Given the description of an element on the screen output the (x, y) to click on. 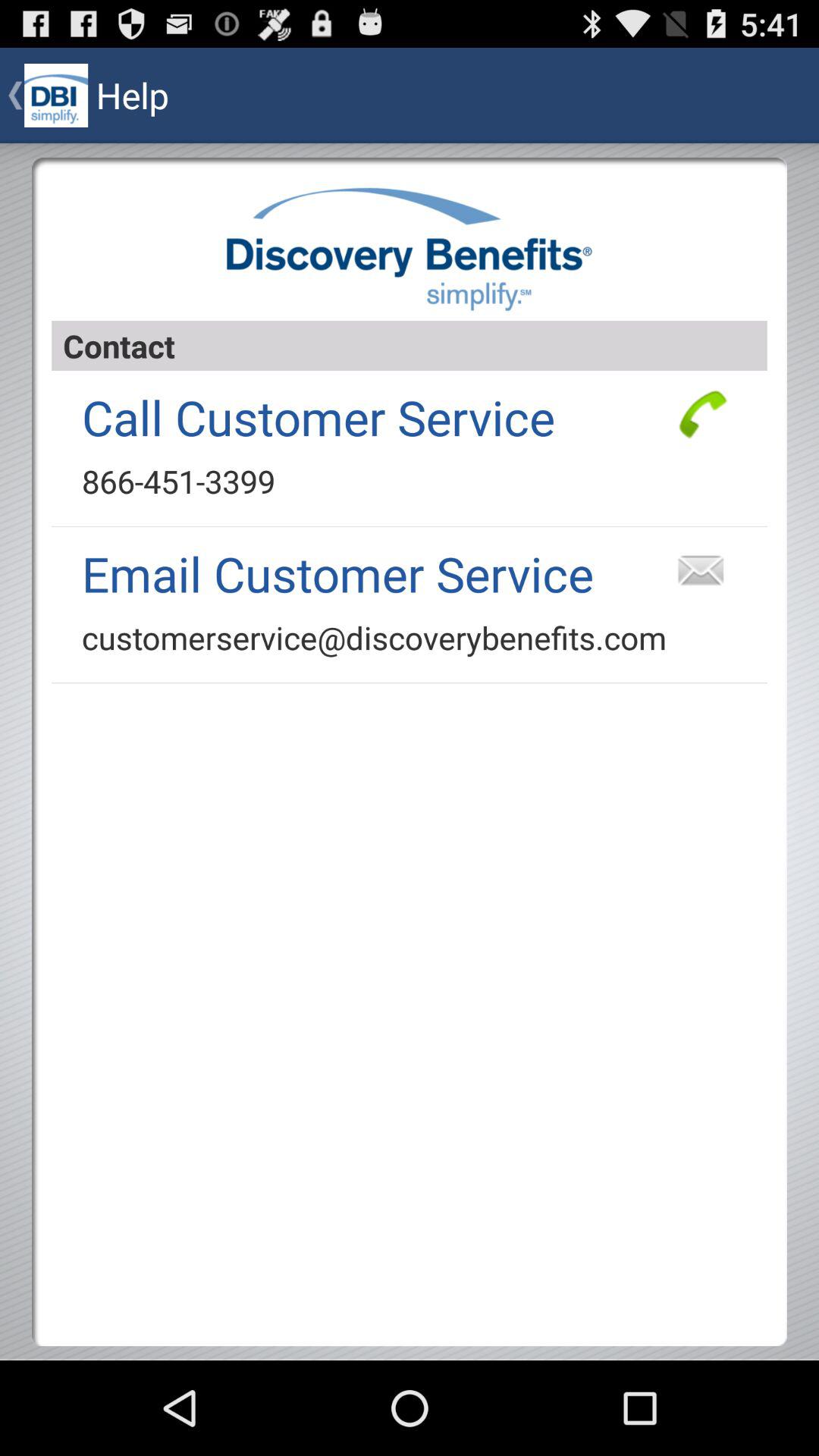
choose the app below call customer service icon (178, 480)
